Given the description of an element on the screen output the (x, y) to click on. 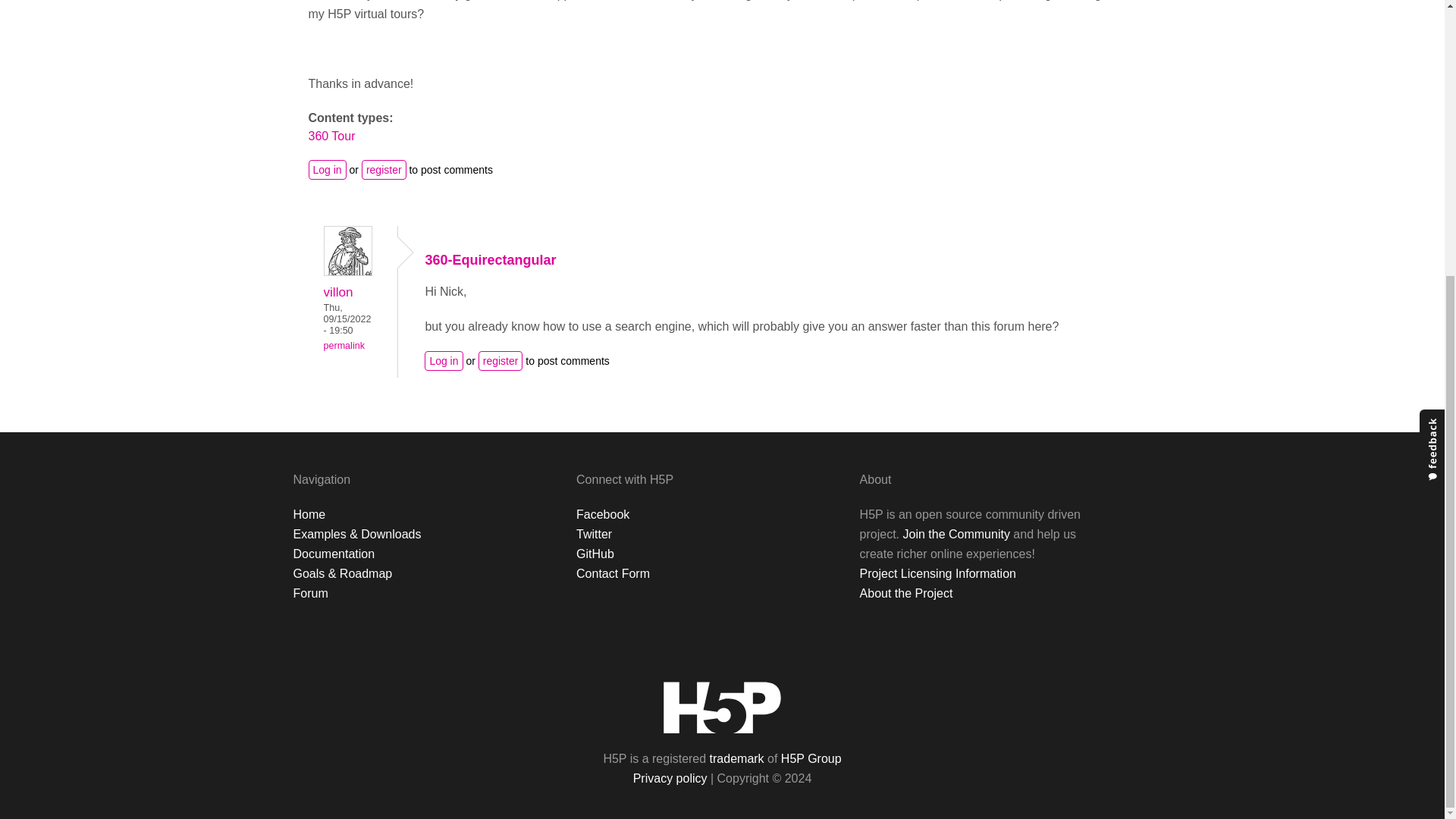
villon (337, 291)
Forum (309, 593)
About the Project (906, 593)
villon's picture (347, 251)
H5P Group (810, 758)
Front page (722, 706)
Join the Community (956, 533)
permalink (343, 345)
360 Tour (331, 135)
Contact Form (612, 573)
Project Licensing Information (938, 573)
Documentation (333, 553)
View user profile. (347, 271)
Log in (326, 169)
register (383, 169)
